Given the description of an element on the screen output the (x, y) to click on. 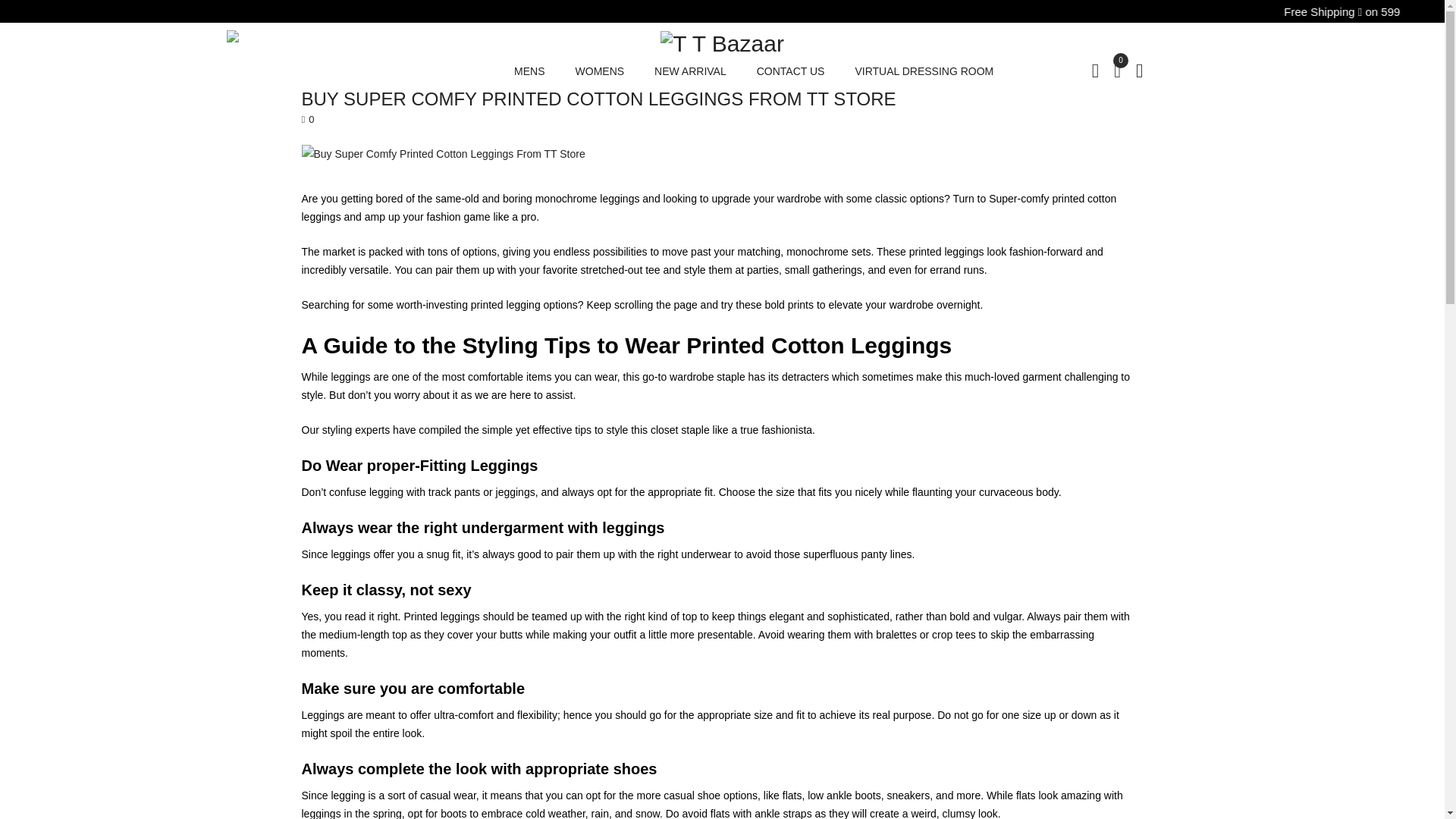
0 (1117, 69)
MENS (528, 71)
CONTACT US (791, 71)
BUY SUPER COMFY PRINTED COTTON LEGGINGS FROM TT STORE (598, 98)
VIRTUAL DRESSING ROOM (923, 71)
NEW ARRIVAL (689, 71)
WOMENS (599, 71)
